Given the description of an element on the screen output the (x, y) to click on. 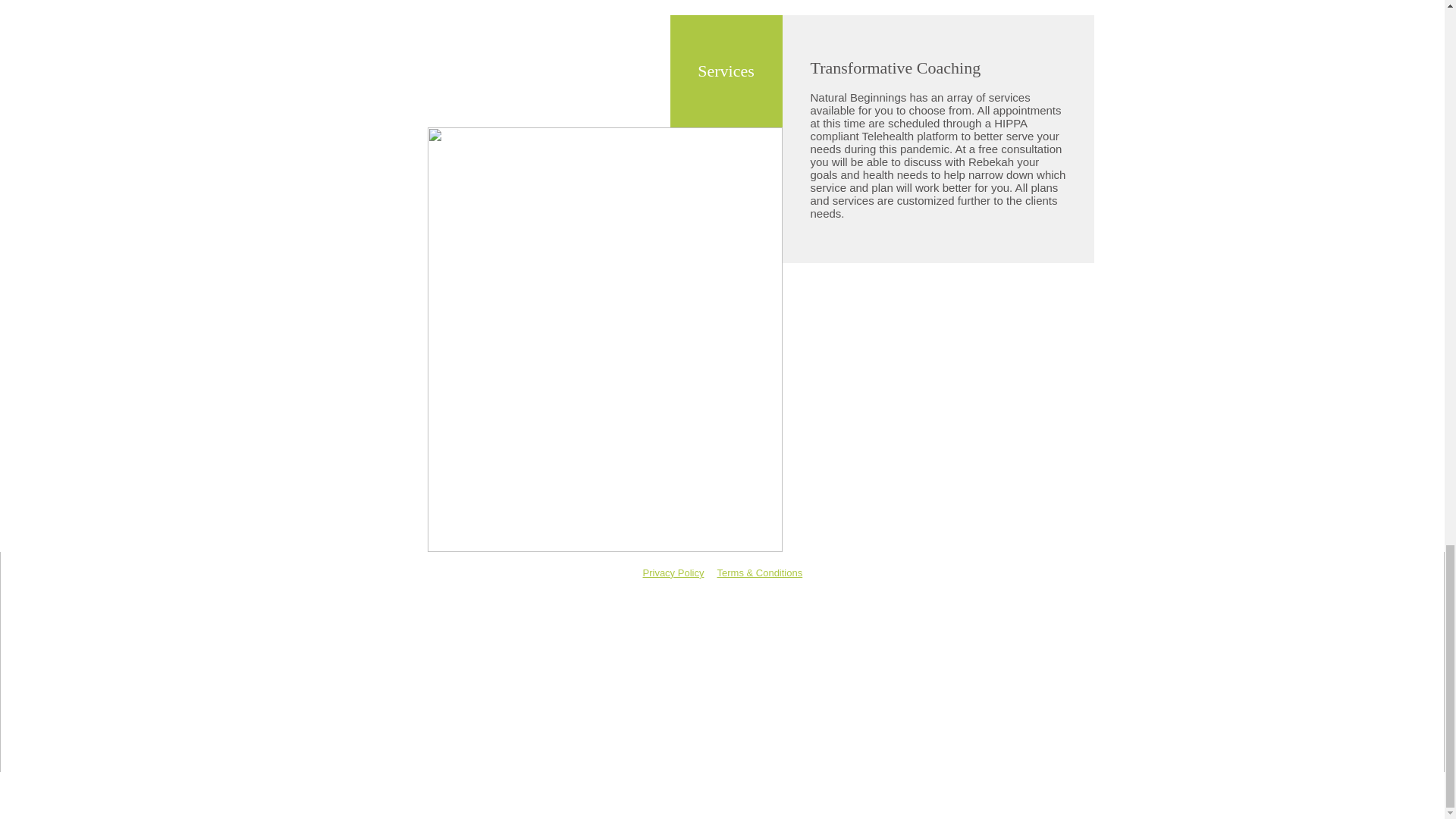
Transformative Coaching (894, 67)
Rebekah Mays, RN (723, 625)
Privacy Policy (673, 572)
Wix.com (848, 759)
509.460.0835 (995, 622)
Services (726, 71)
